Given the description of an element on the screen output the (x, y) to click on. 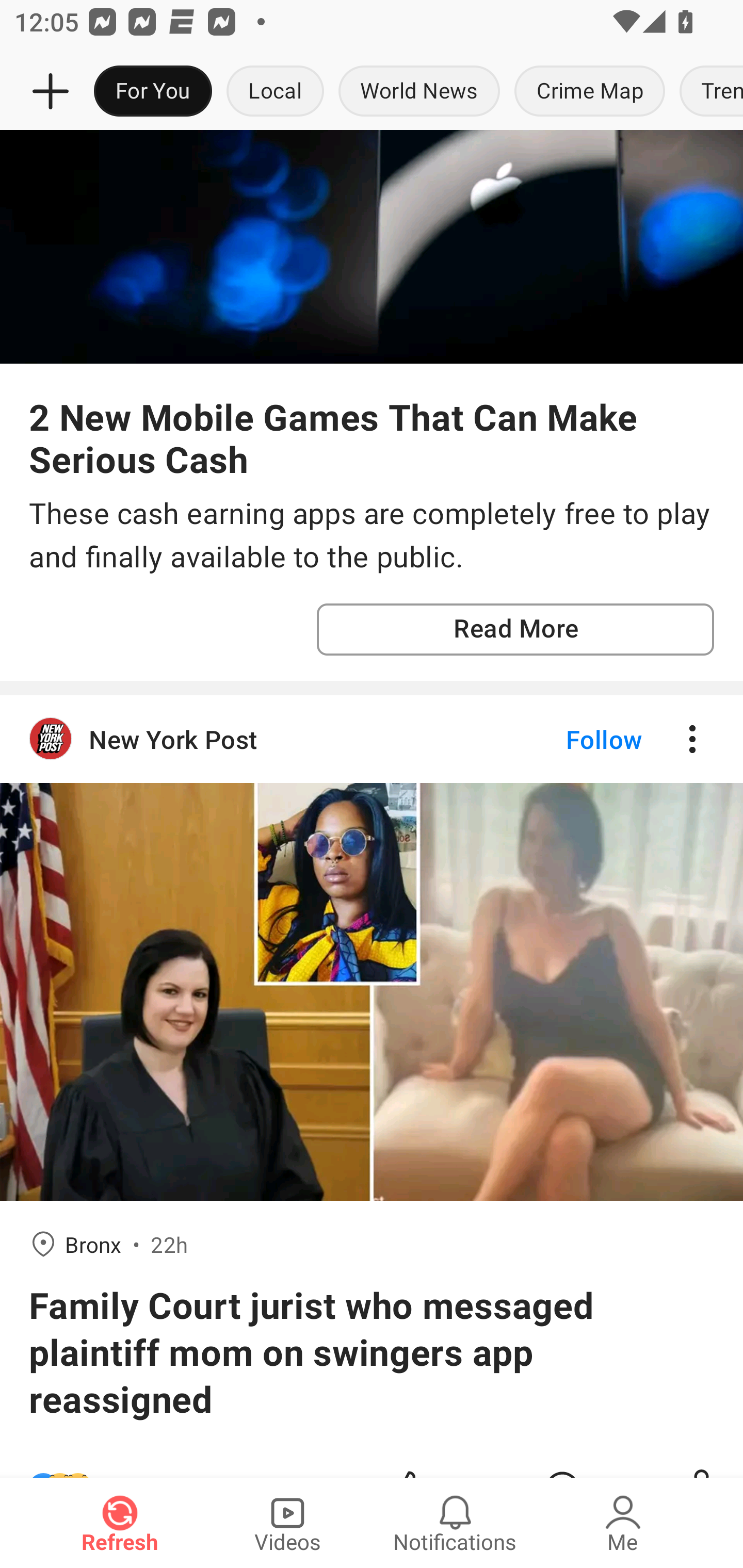
For You (152, 91)
Local (275, 91)
World News (419, 91)
Crime Map (589, 91)
2 New Mobile Games That Can Make Serious Cash (371, 437)
Read More (515, 629)
New York Post Follow (371, 738)
Follow (569, 738)
Videos (287, 1522)
Notifications (455, 1522)
Me (622, 1522)
